Given the description of an element on the screen output the (x, y) to click on. 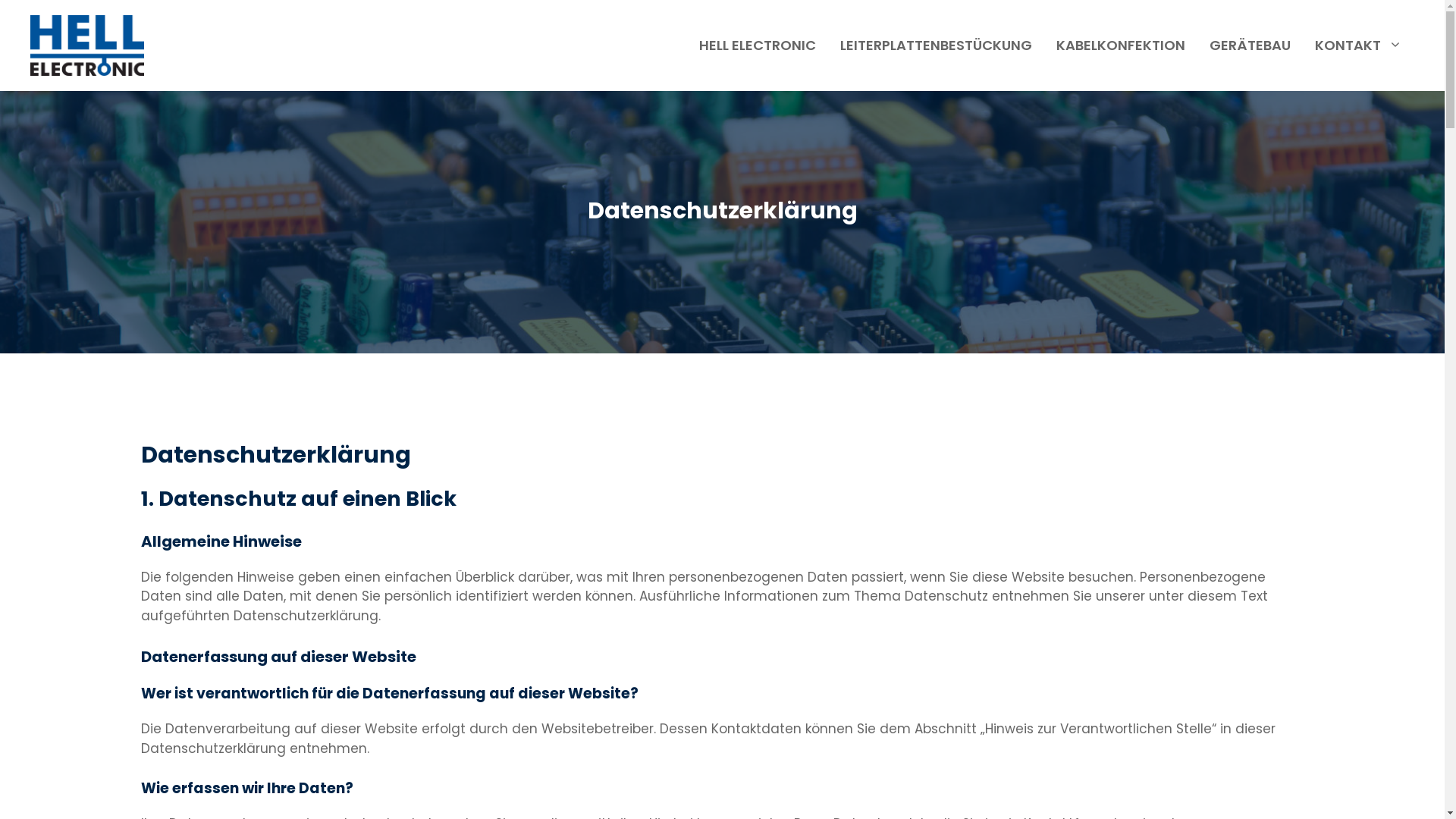
KONTAKT Element type: text (1358, 45)
KABELKONFEKTION Element type: text (1120, 45)
HELL ELECTRONIC Element type: text (757, 45)
